Given the description of an element on the screen output the (x, y) to click on. 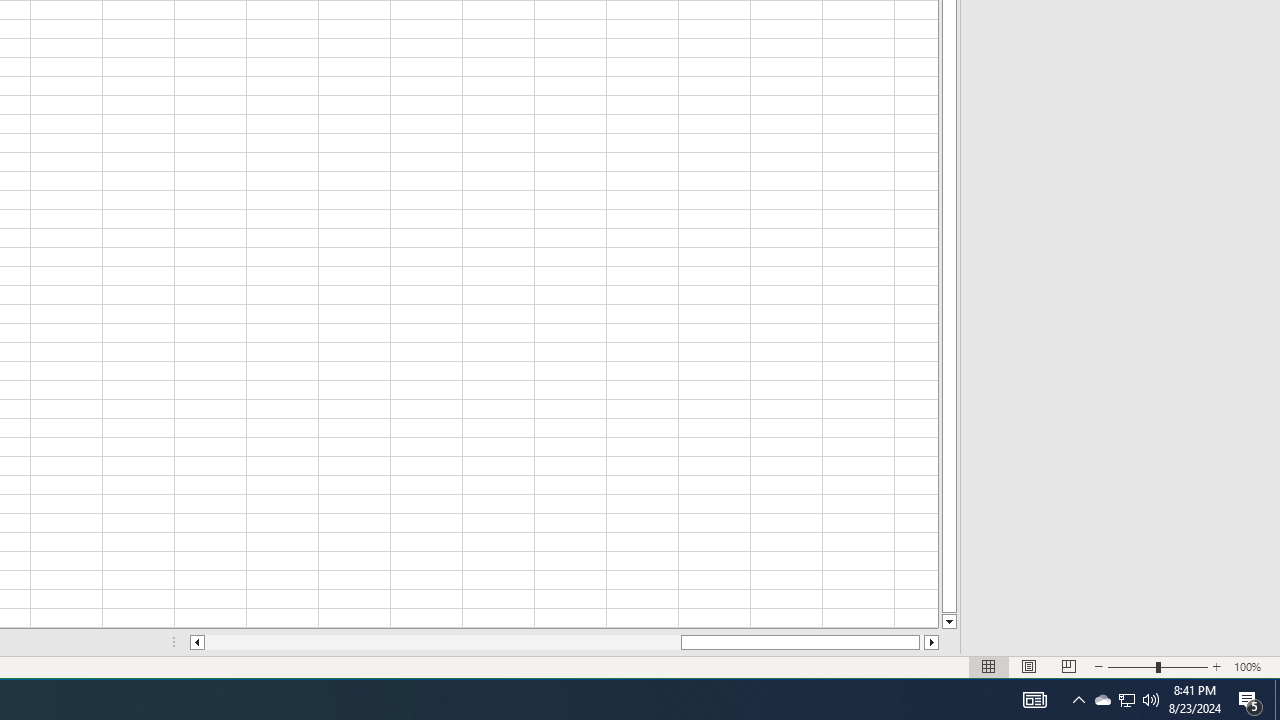
AutomationID: 4105 (1034, 699)
Action Center, 5 new notifications (1250, 699)
